Given the description of an element on the screen output the (x, y) to click on. 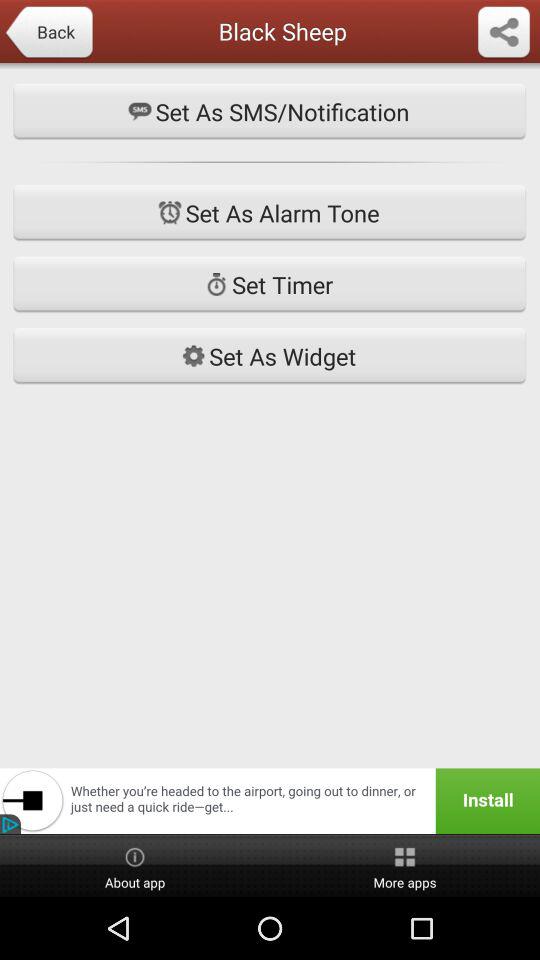
flip until more apps (405, 866)
